Given the description of an element on the screen output the (x, y) to click on. 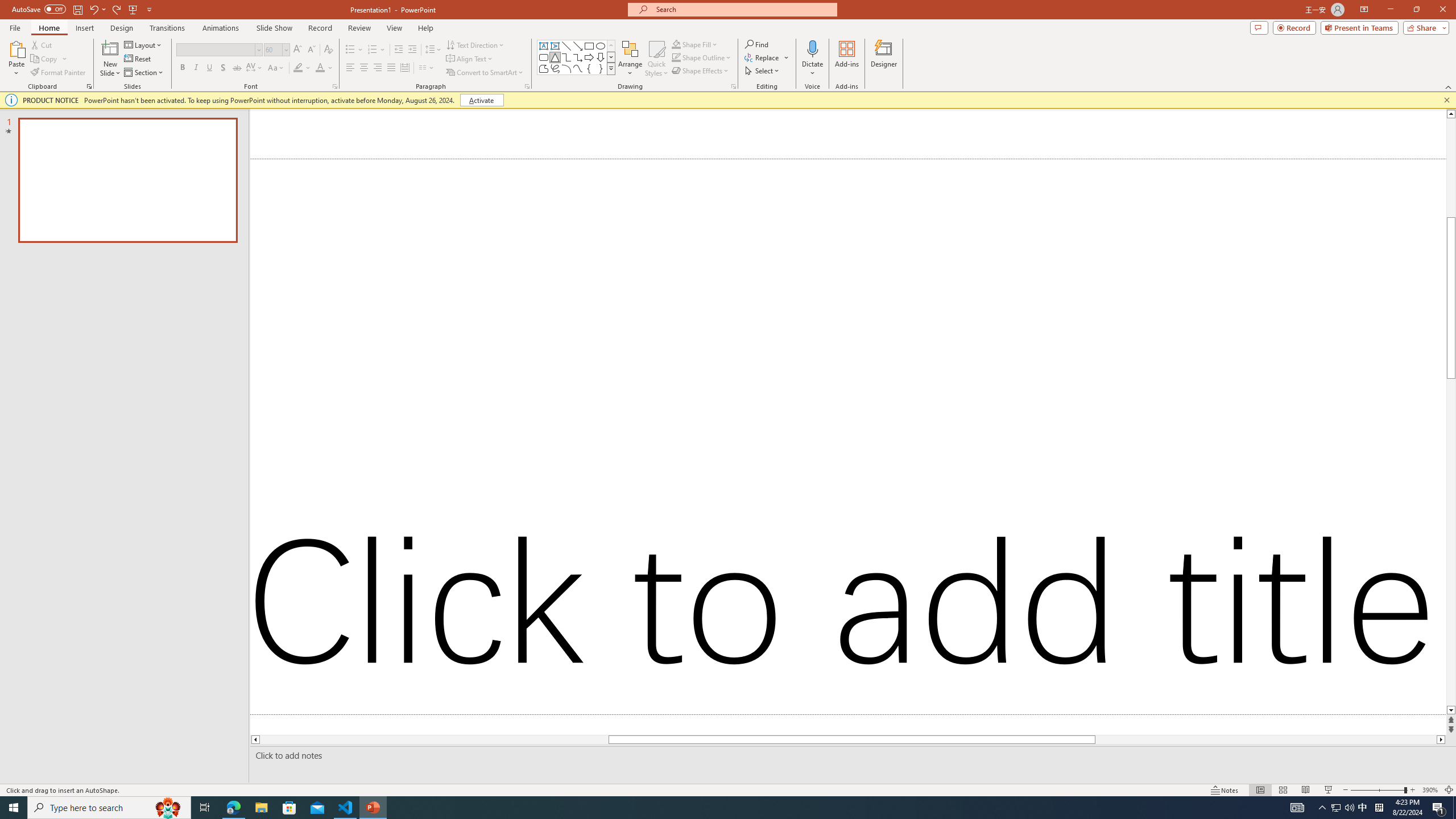
Reset (138, 58)
Columns (426, 67)
Connector: Elbow Arrow (577, 57)
Clear Formatting (327, 49)
Increase Font Size (297, 49)
Class: NetUIImage (610, 68)
Format Object... (733, 85)
Strikethrough (237, 67)
Align Text (470, 58)
Paragraph... (526, 85)
Paste (16, 58)
Text Box (543, 45)
